Given the description of an element on the screen output the (x, y) to click on. 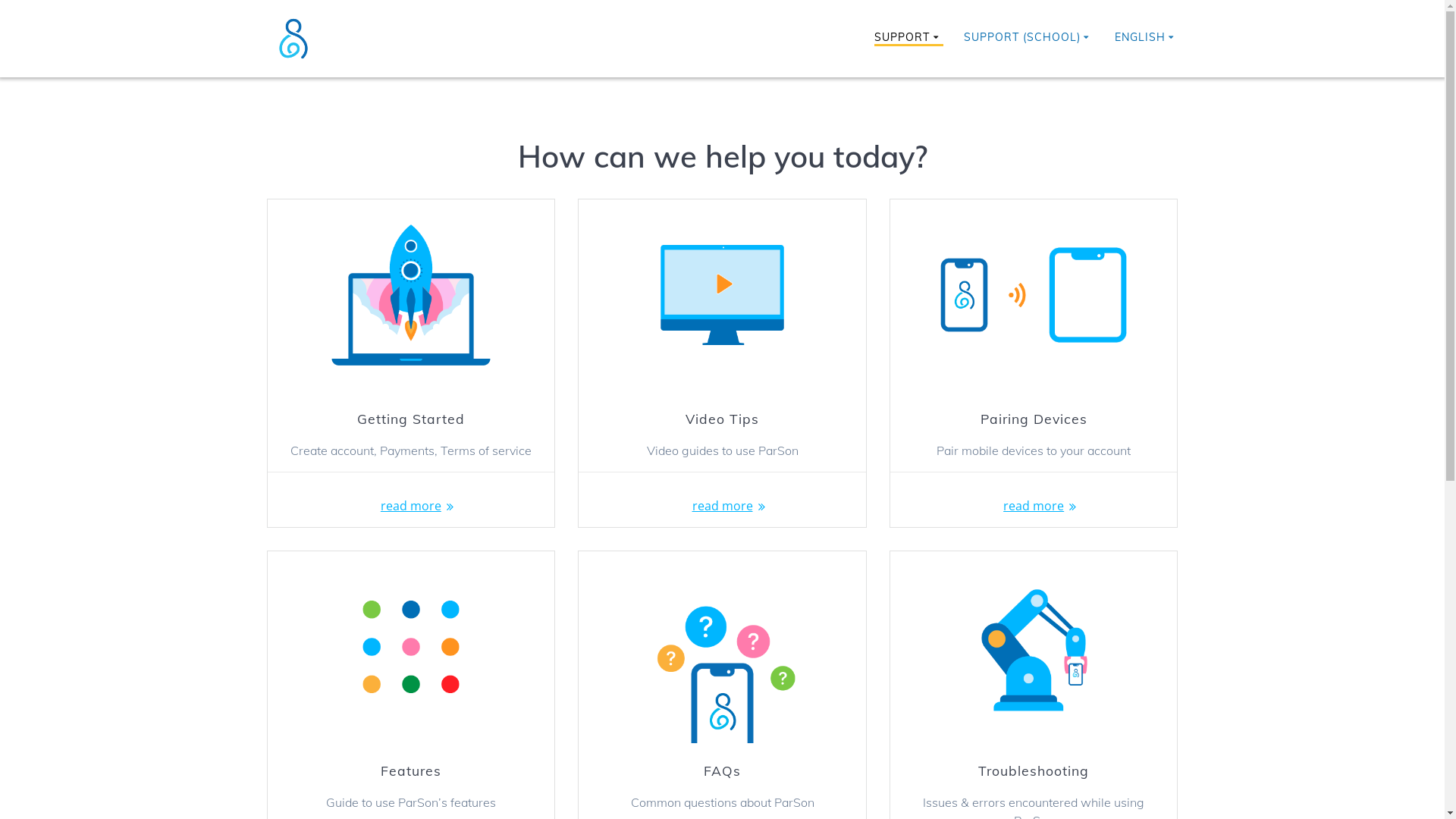
read more Element type: text (721, 505)
01_getstarted Element type: hover (721, 646)
read more Element type: text (1033, 505)
SUPPORT Element type: text (908, 38)
read more Element type: text (410, 505)
01_getstarted Element type: hover (1033, 646)
ENGLISH Element type: text (1146, 38)
SUPPORT (SCHOOL) Element type: text (1028, 38)
01_getstarted Element type: hover (721, 294)
01_getstarted Element type: hover (410, 646)
01_getstarted Element type: hover (1033, 294)
01_getstarted Element type: hover (410, 294)
